Given the description of an element on the screen output the (x, y) to click on. 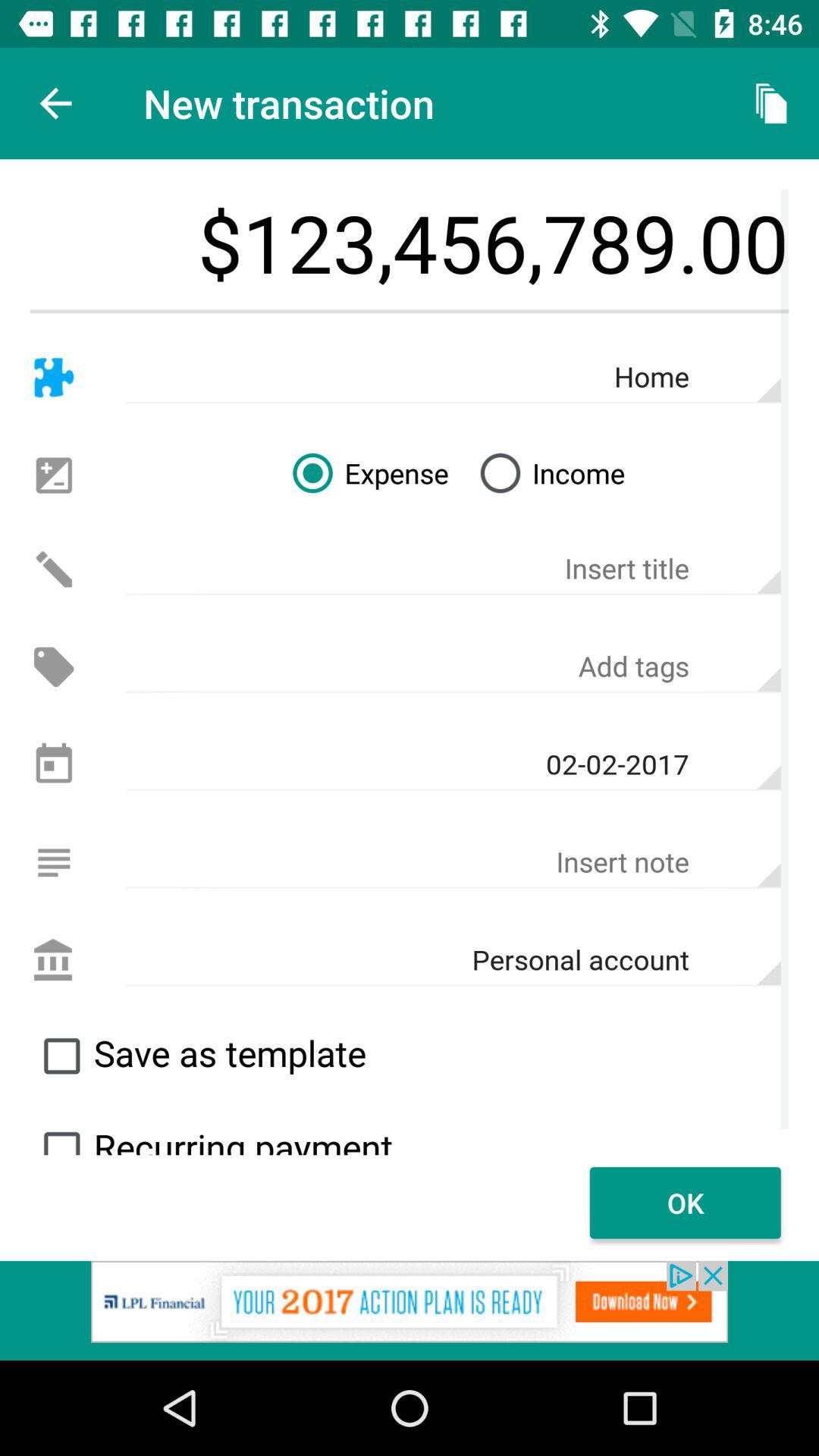
enter insert title (452, 568)
